Given the description of an element on the screen output the (x, y) to click on. 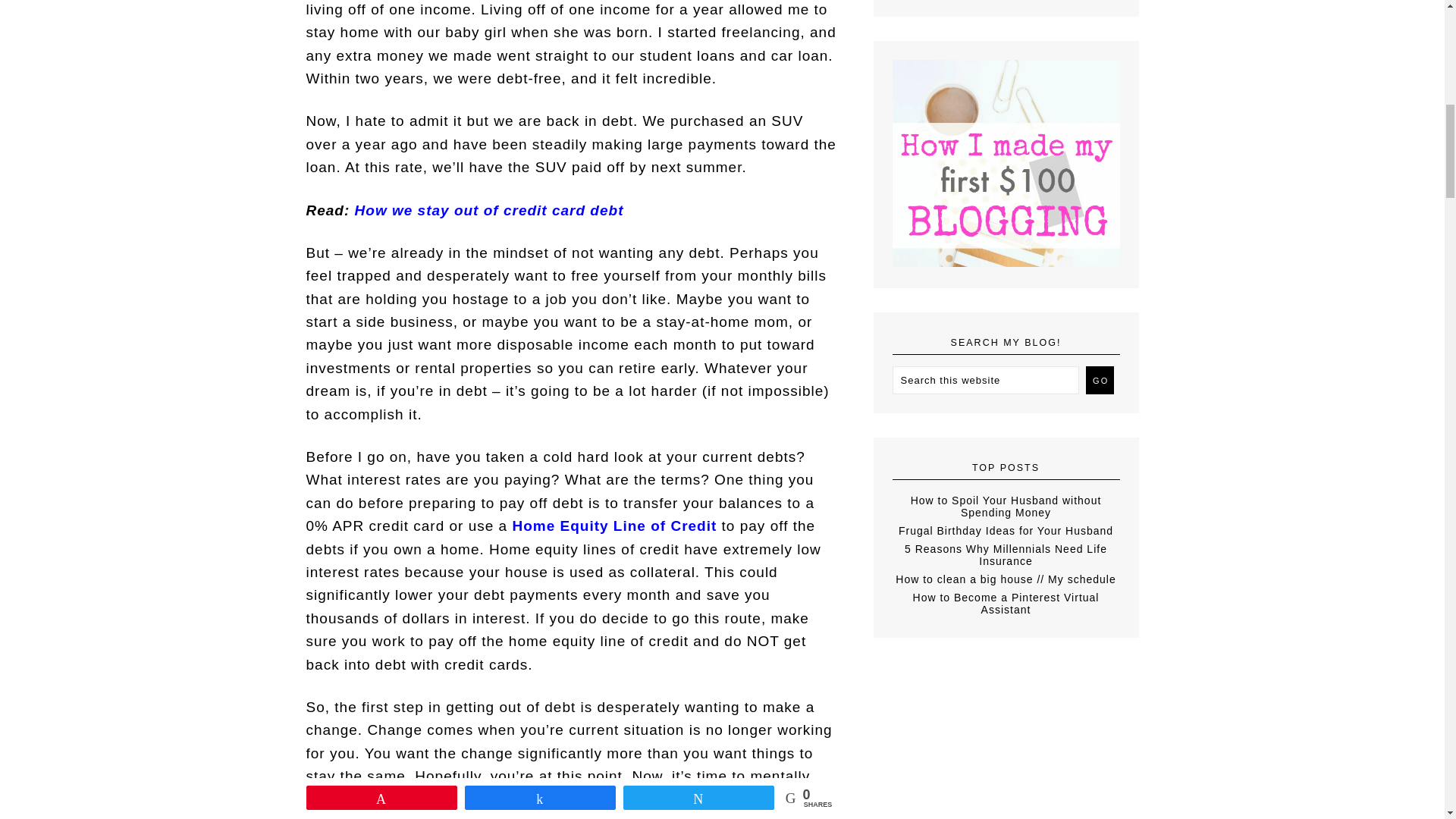
How we stay out of credit card debt (489, 209)
GO (1099, 379)
Home Equity Line of Credit (614, 525)
GO (1099, 379)
